Given the description of an element on the screen output the (x, y) to click on. 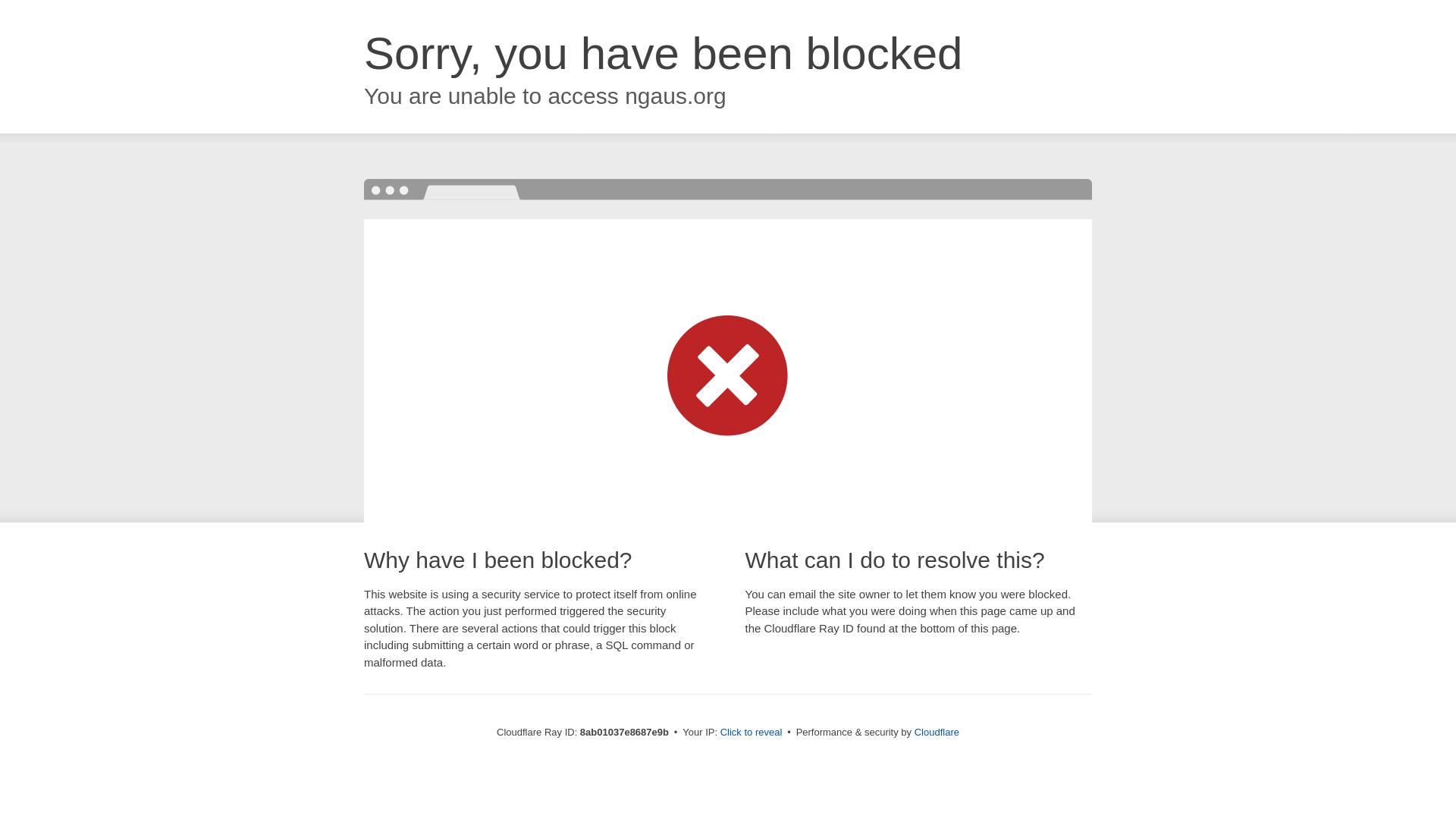
Cloudflare (936, 731)
Click to reveal (751, 732)
